Given the description of an element on the screen output the (x, y) to click on. 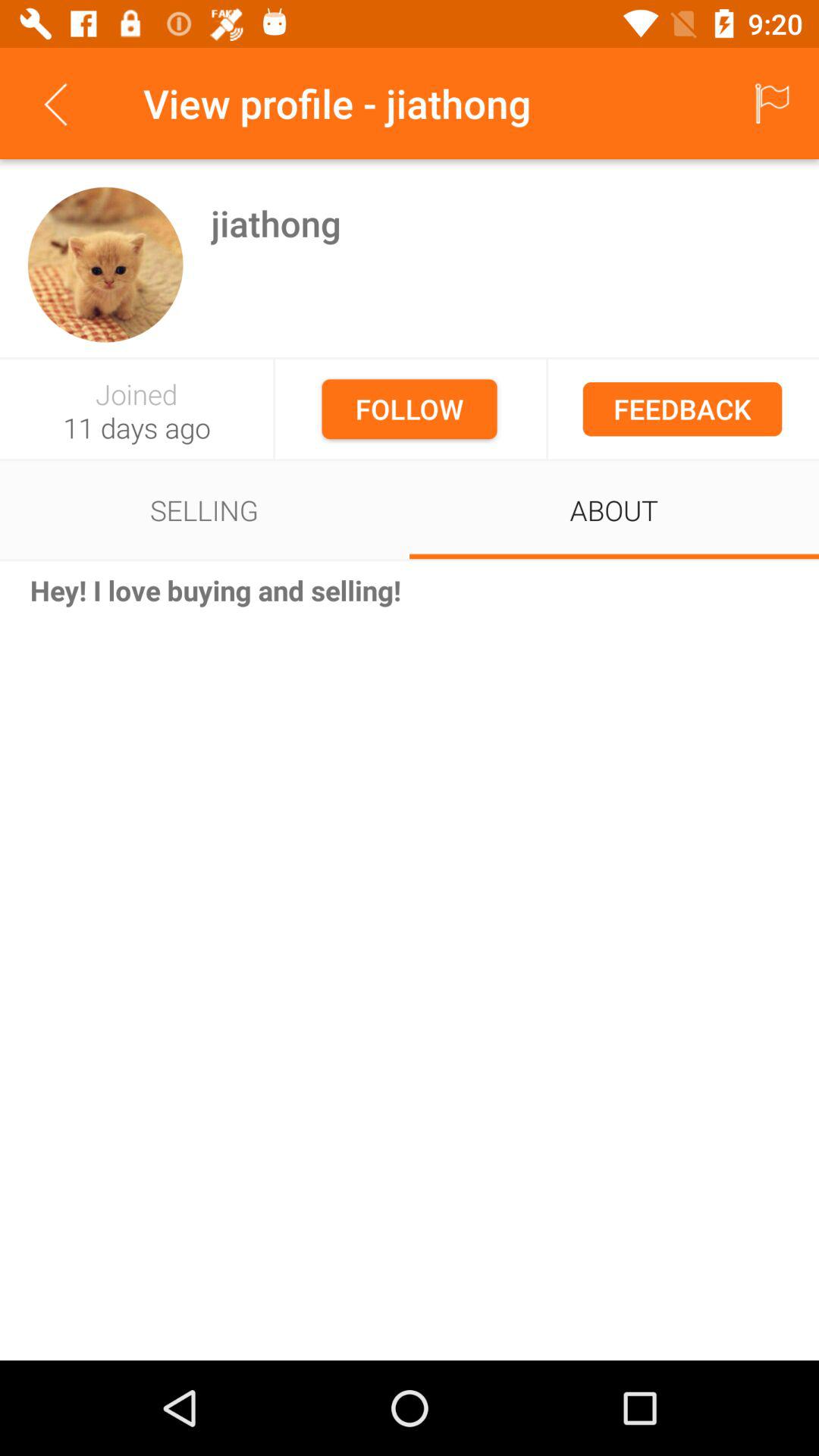
choose the item next to view profile - jiathong (771, 103)
